Given the description of an element on the screen output the (x, y) to click on. 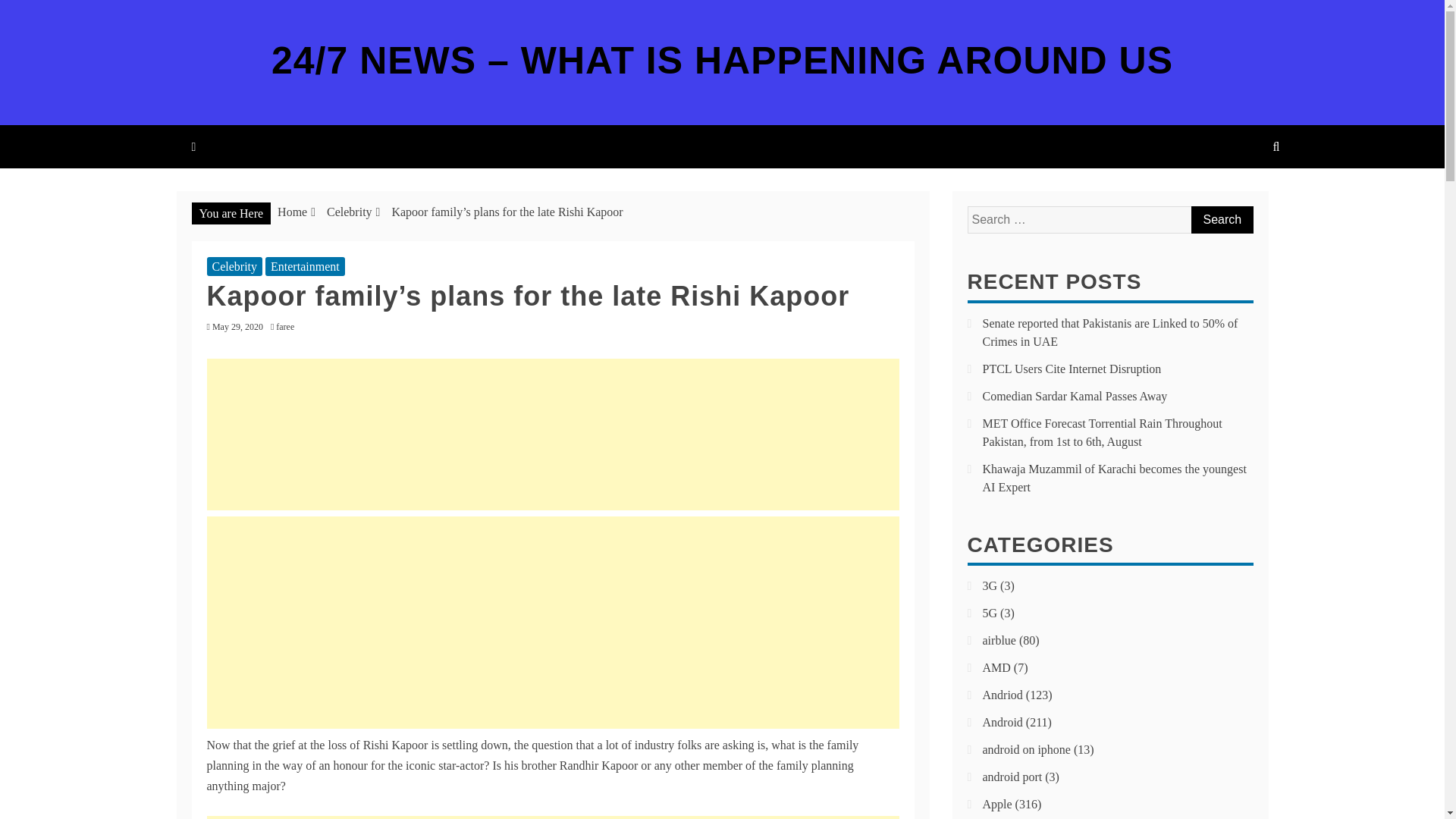
Andriod (1002, 694)
5G (989, 612)
Celebrity (349, 211)
faree (288, 326)
Search (1221, 219)
Khawaja Muzammil of Karachi becomes the youngest AI Expert (1114, 477)
Celebrity (234, 266)
Comedian Sardar Kamal Passes Away (1074, 395)
Entertainment (304, 266)
Home (292, 211)
AMD (996, 667)
May 29, 2020 (237, 326)
3G (989, 585)
PTCL Users Cite Internet Disruption (1071, 368)
